Given the description of an element on the screen output the (x, y) to click on. 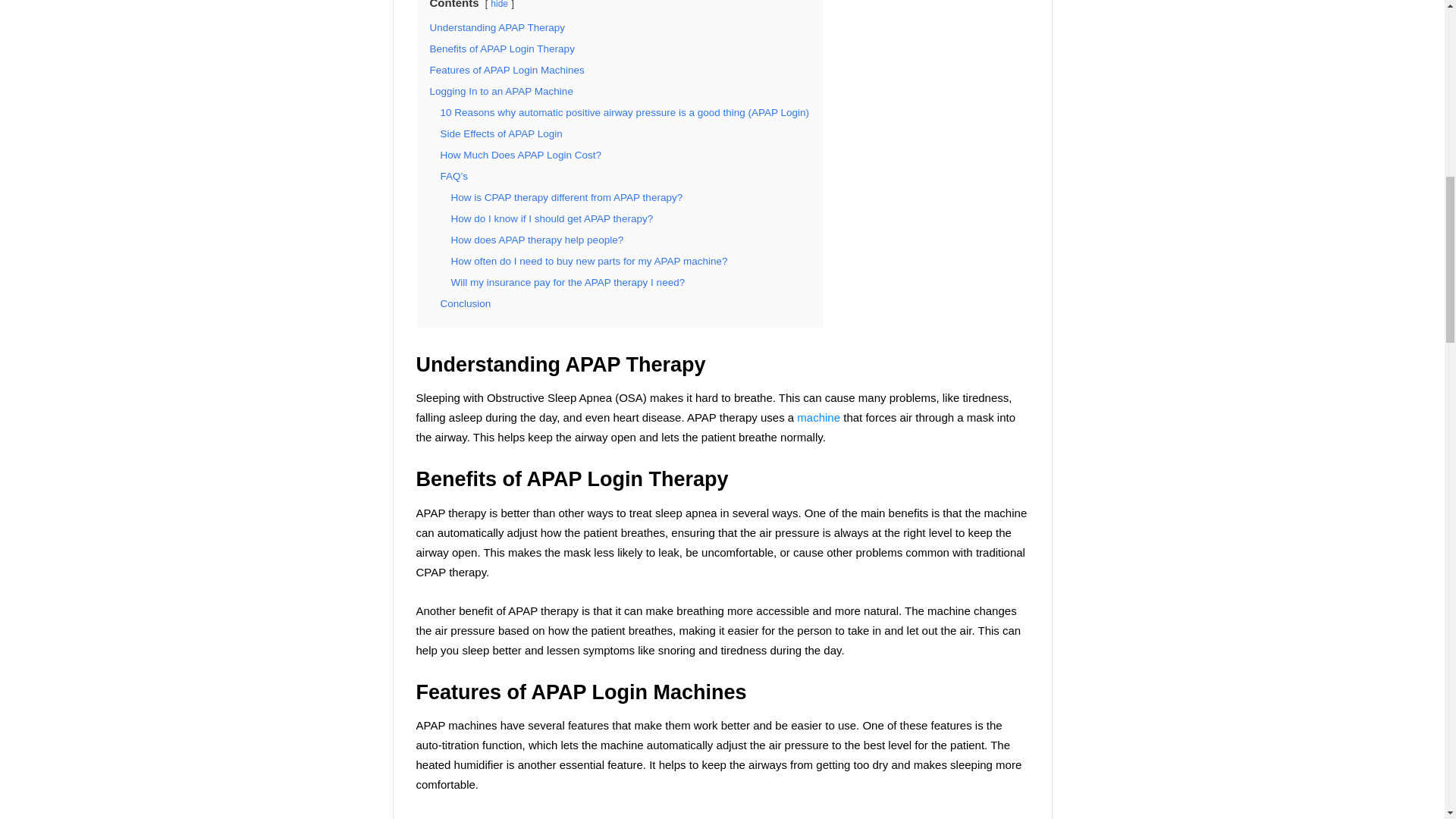
Features of APAP Login Machines (506, 70)
How does APAP therapy help people? (536, 239)
hide (499, 4)
How Much Does APAP Login Cost? (520, 154)
How is CPAP therapy different from APAP therapy? (565, 197)
Benefits of APAP Login Therapy (501, 48)
How often do I need to buy new parts for my APAP machine? (587, 260)
How do I know if I should get APAP therapy? (550, 218)
machine (818, 417)
Logging In to an APAP Machine (500, 91)
Will my insurance pay for the APAP therapy I need? (566, 282)
Conclusion (464, 303)
Side Effects of APAP Login (500, 133)
Understanding APAP Therapy (496, 27)
